Given the description of an element on the screen output the (x, y) to click on. 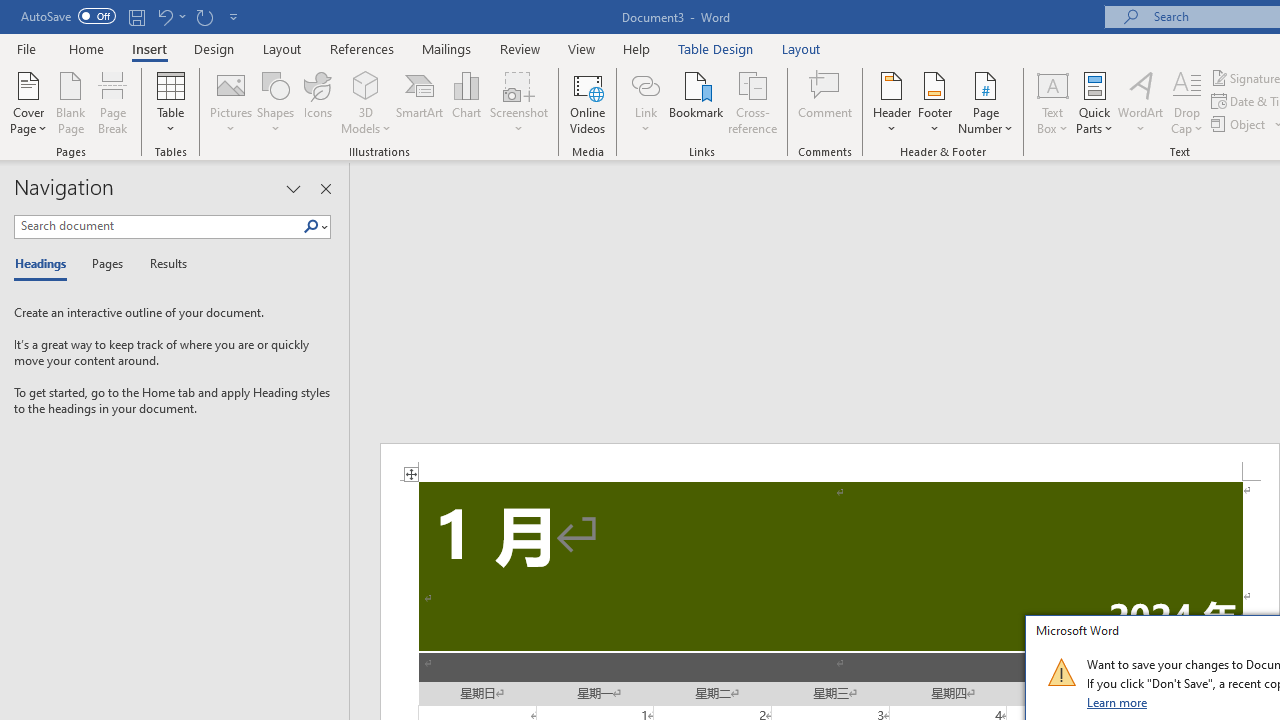
Mailings (447, 48)
System (10, 11)
Search (311, 227)
Home (86, 48)
Quick Parts (1094, 102)
Header -Section 1- (830, 461)
Page Number (986, 102)
Undo Increase Indent (170, 15)
Cross-reference... (752, 102)
Table (170, 102)
Search (315, 227)
Comment (825, 102)
Link (645, 102)
References (362, 48)
